Given the description of an element on the screen output the (x, y) to click on. 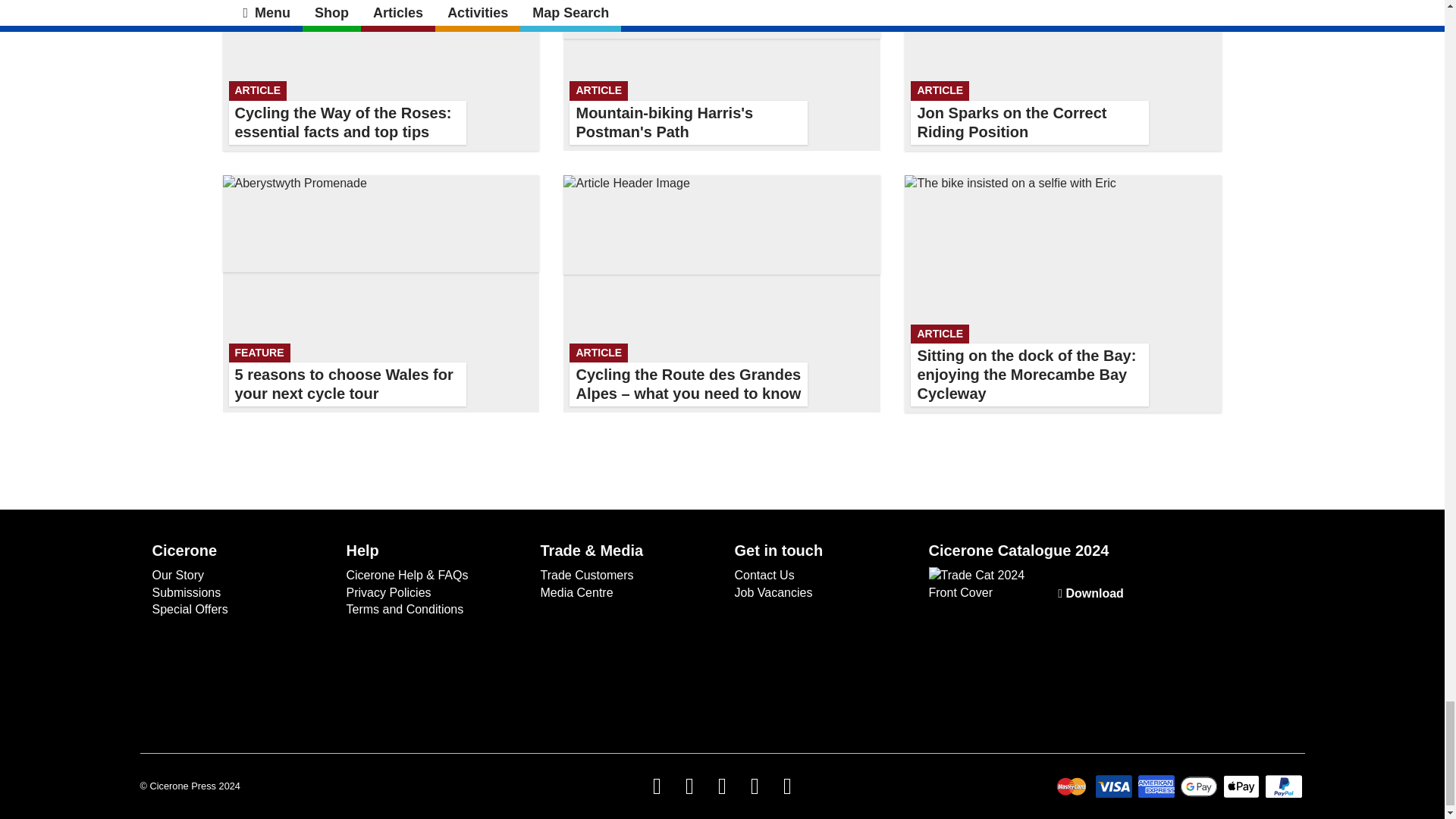
Submissions (186, 592)
Media Centre (576, 592)
Contact Us (763, 574)
Special Offers (381, 293)
Terms and Conditions (189, 608)
Our Story (404, 608)
Privacy Policies (177, 574)
Trade Customers (388, 592)
